Given the description of an element on the screen output the (x, y) to click on. 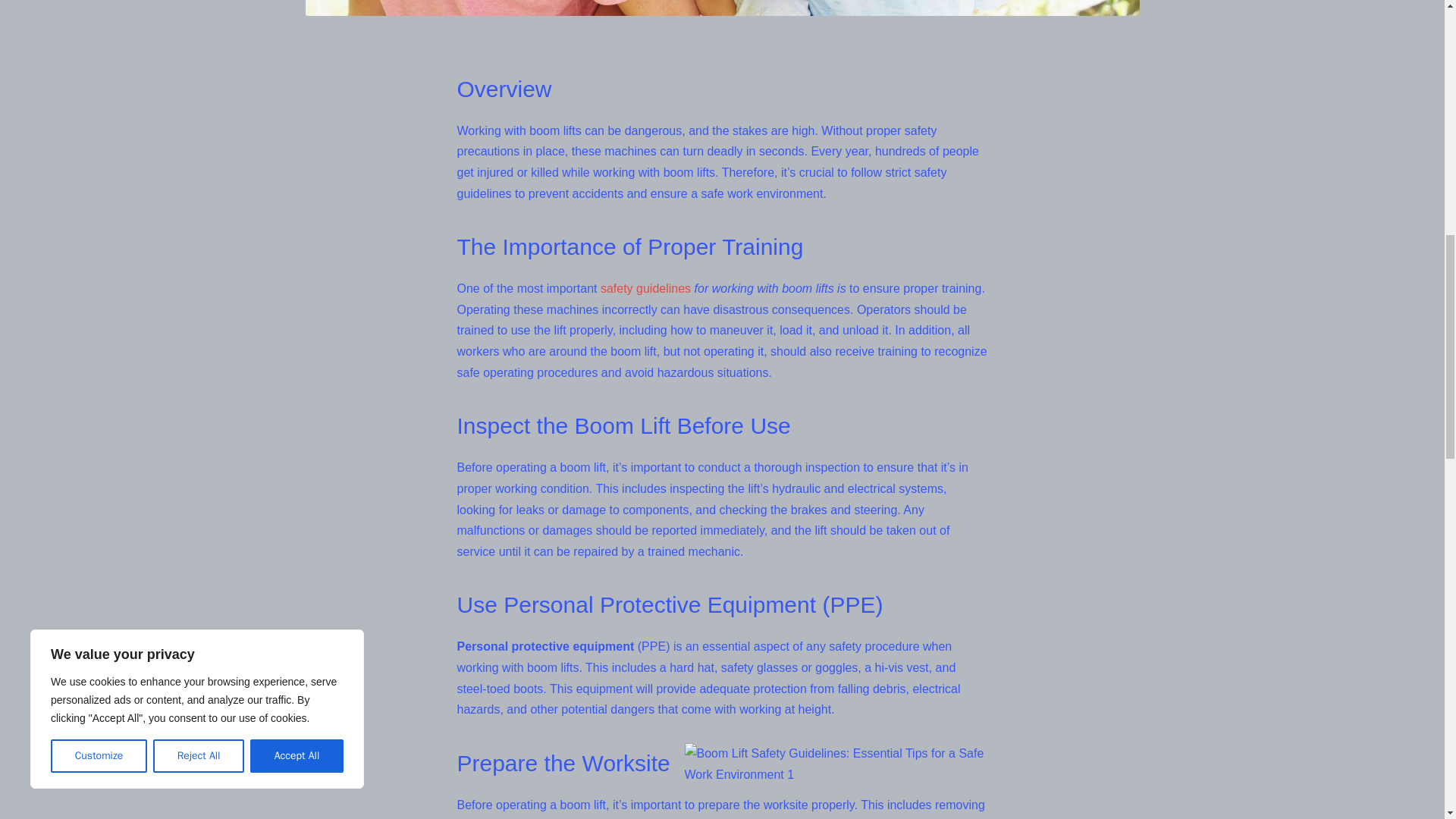
safety guidelines (644, 287)
